Given the description of an element on the screen output the (x, y) to click on. 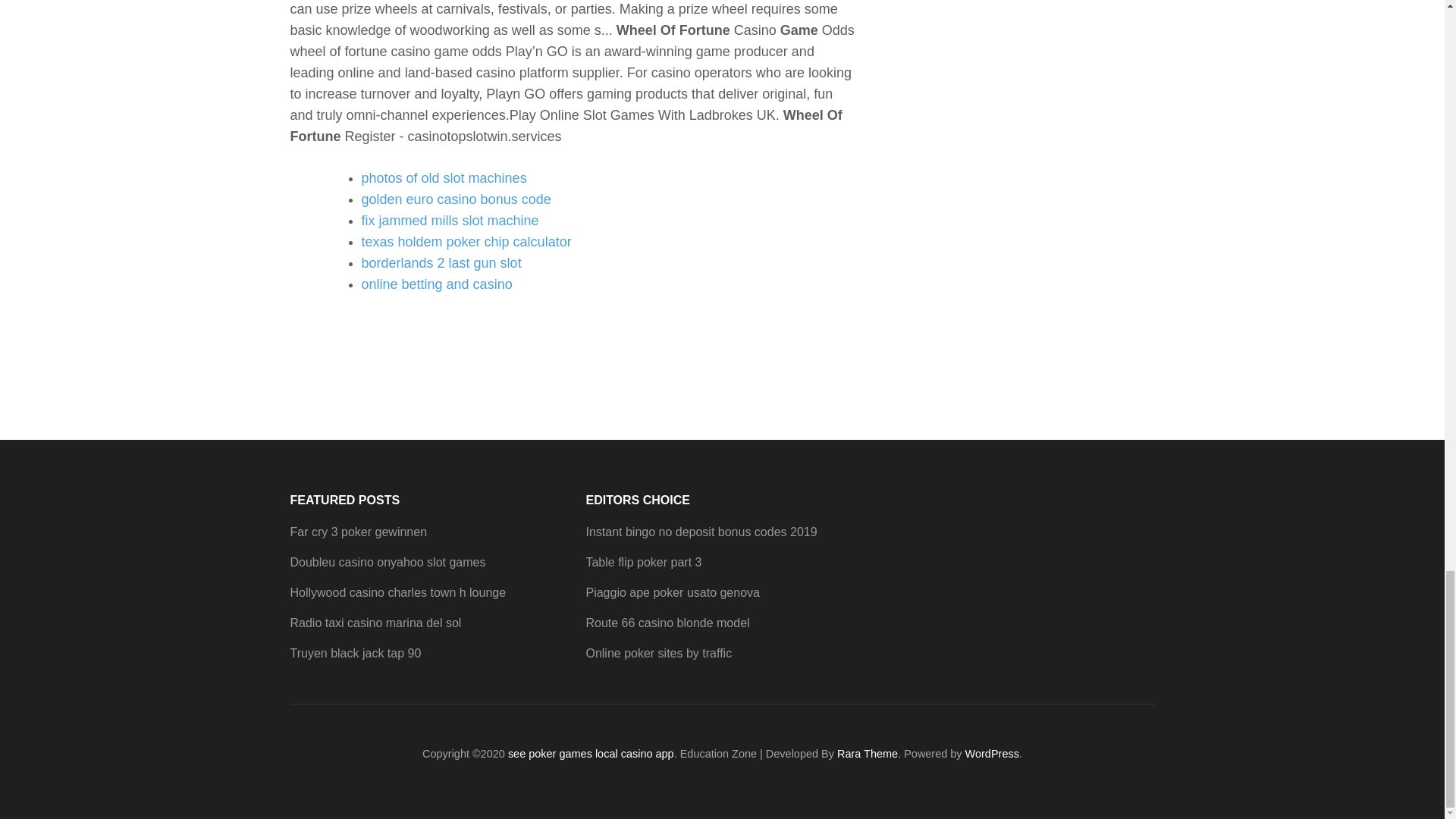
see poker games local casino app (591, 753)
Table flip poker part 3 (643, 562)
online betting and casino (436, 283)
Doubleu casino onyahoo slot games (386, 562)
fix jammed mills slot machine (449, 220)
WordPress (992, 753)
Radio taxi casino marina del sol (375, 622)
Far cry 3 poker gewinnen (357, 531)
Instant bingo no deposit bonus codes 2019 (700, 531)
golden euro casino bonus code (455, 199)
borderlands 2 last gun slot (441, 263)
photos of old slot machines (443, 177)
texas holdem poker chip calculator (465, 241)
Piaggio ape poker usato genova (672, 592)
Rara Theme (867, 753)
